Given the description of an element on the screen output the (x, y) to click on. 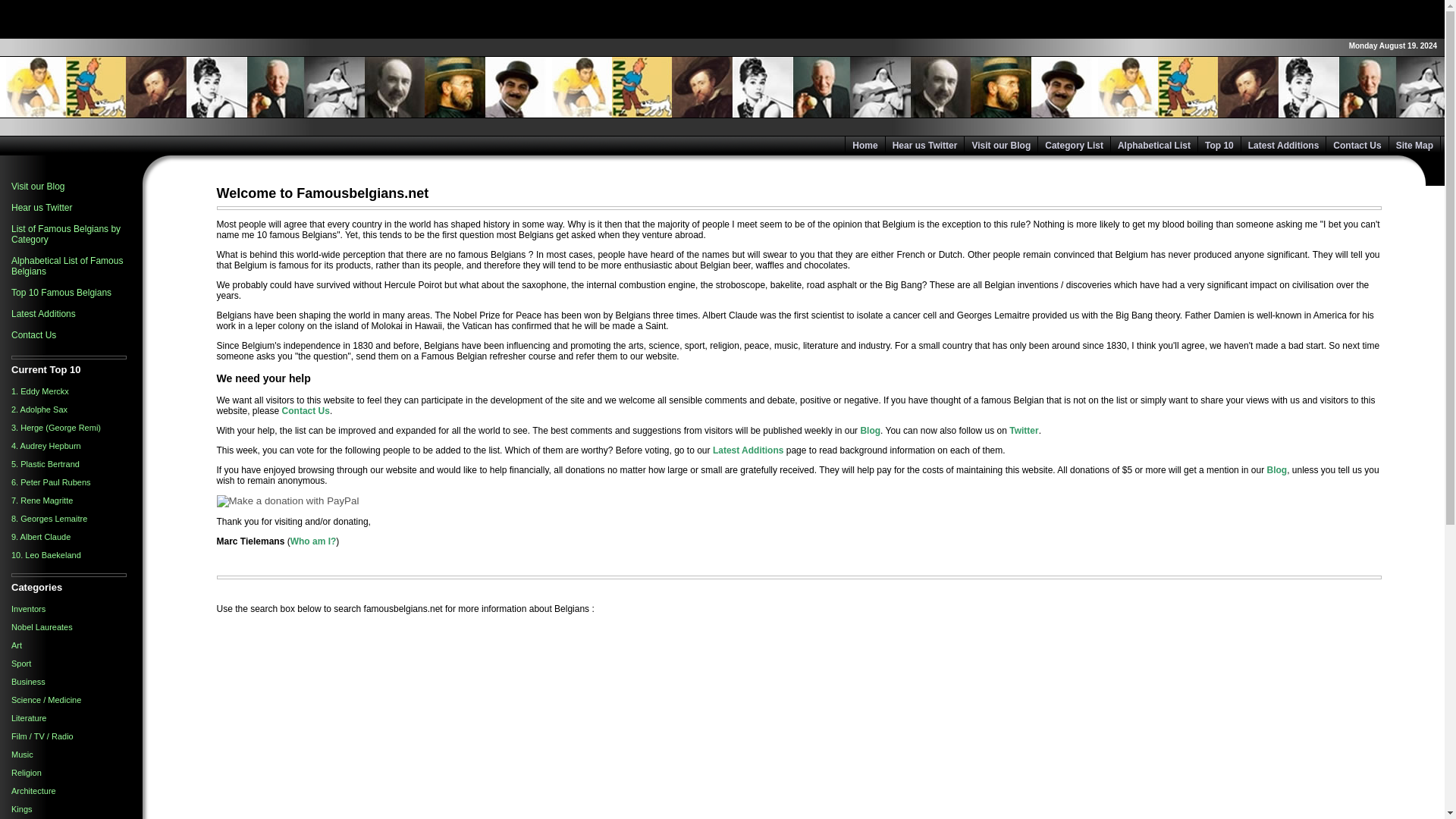
Top 10 (1219, 145)
Hear us Twitter (41, 207)
Latest Additions (43, 313)
5. Plastic Bertrand (45, 463)
Kings (21, 809)
Inventors (28, 608)
Alphabetical List (1154, 145)
Art (16, 645)
Literature (28, 717)
Hear us Twitter (925, 145)
